Given the description of an element on the screen output the (x, y) to click on. 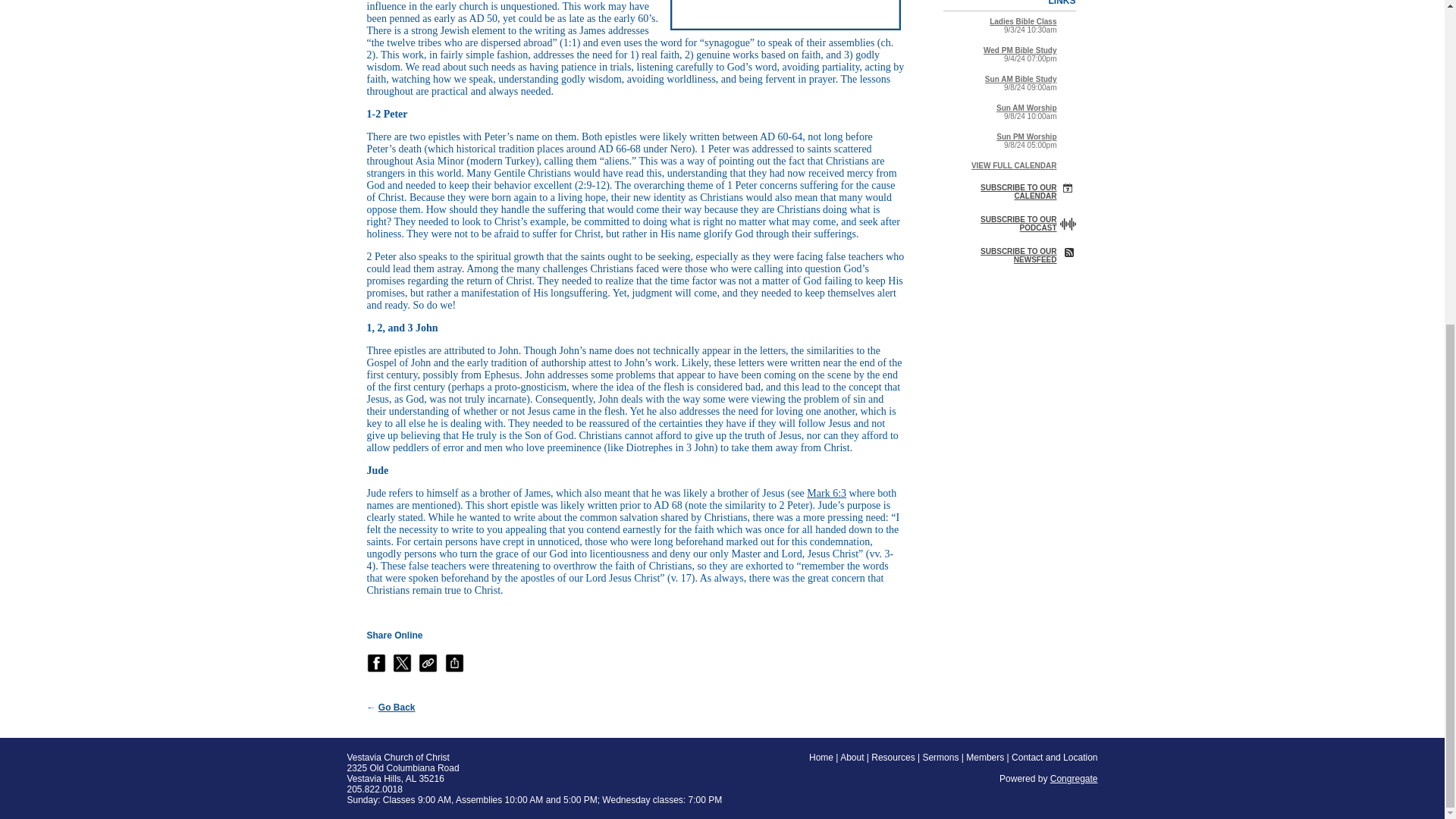
Twitter (402, 662)
Go Back (396, 706)
Copy (428, 662)
Share (454, 662)
Mark 6:3 (825, 492)
Facebook (375, 662)
